Given the description of an element on the screen output the (x, y) to click on. 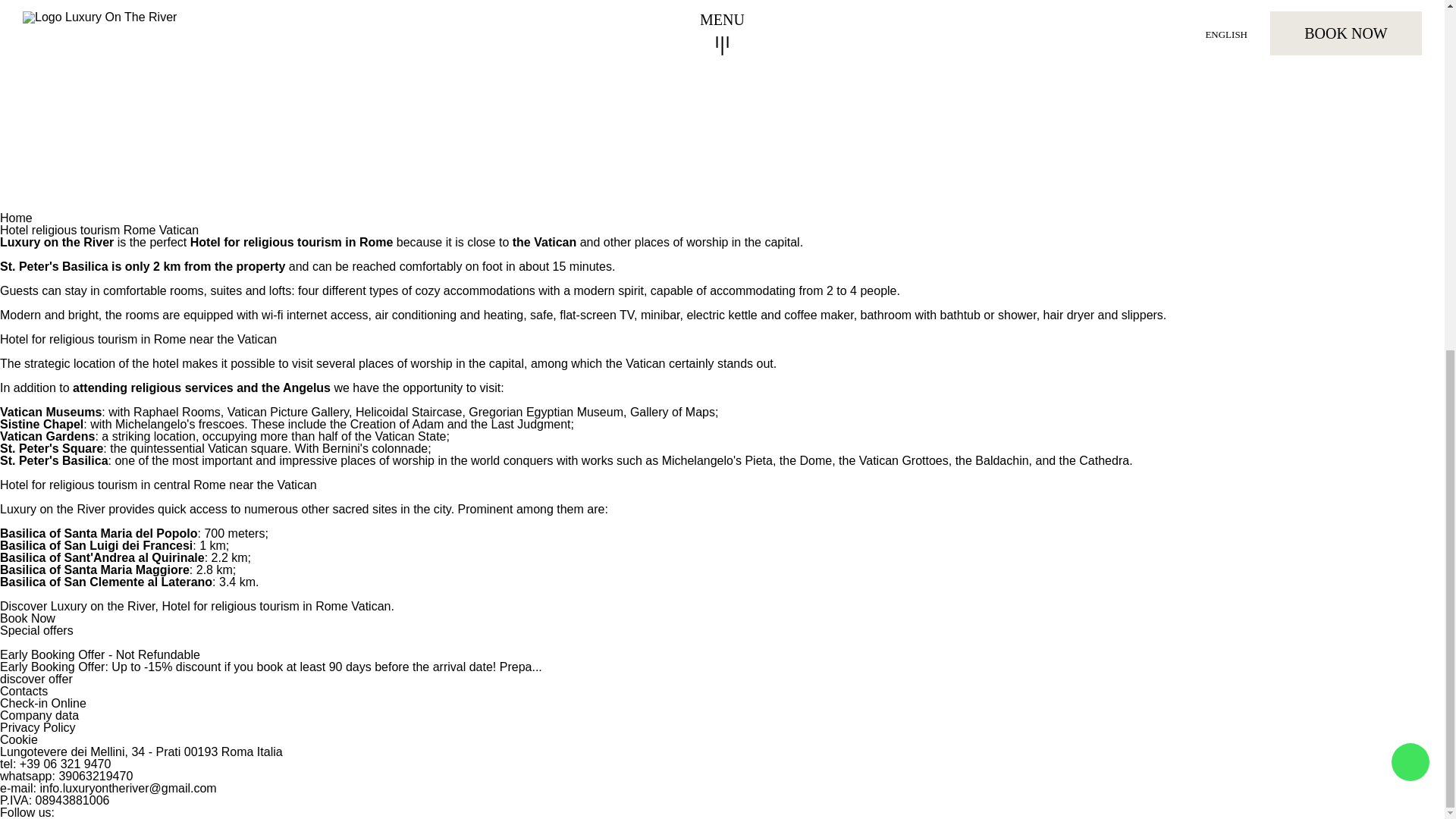
Check-in Online (42, 703)
Book now (1055, 707)
Home (16, 217)
Book Now (27, 617)
Company data (39, 715)
discover offer (36, 678)
Book now (1055, 707)
Privacy Policy (37, 727)
Cookie (18, 739)
Contacts (24, 690)
39063219470 (95, 775)
